Given the description of an element on the screen output the (x, y) to click on. 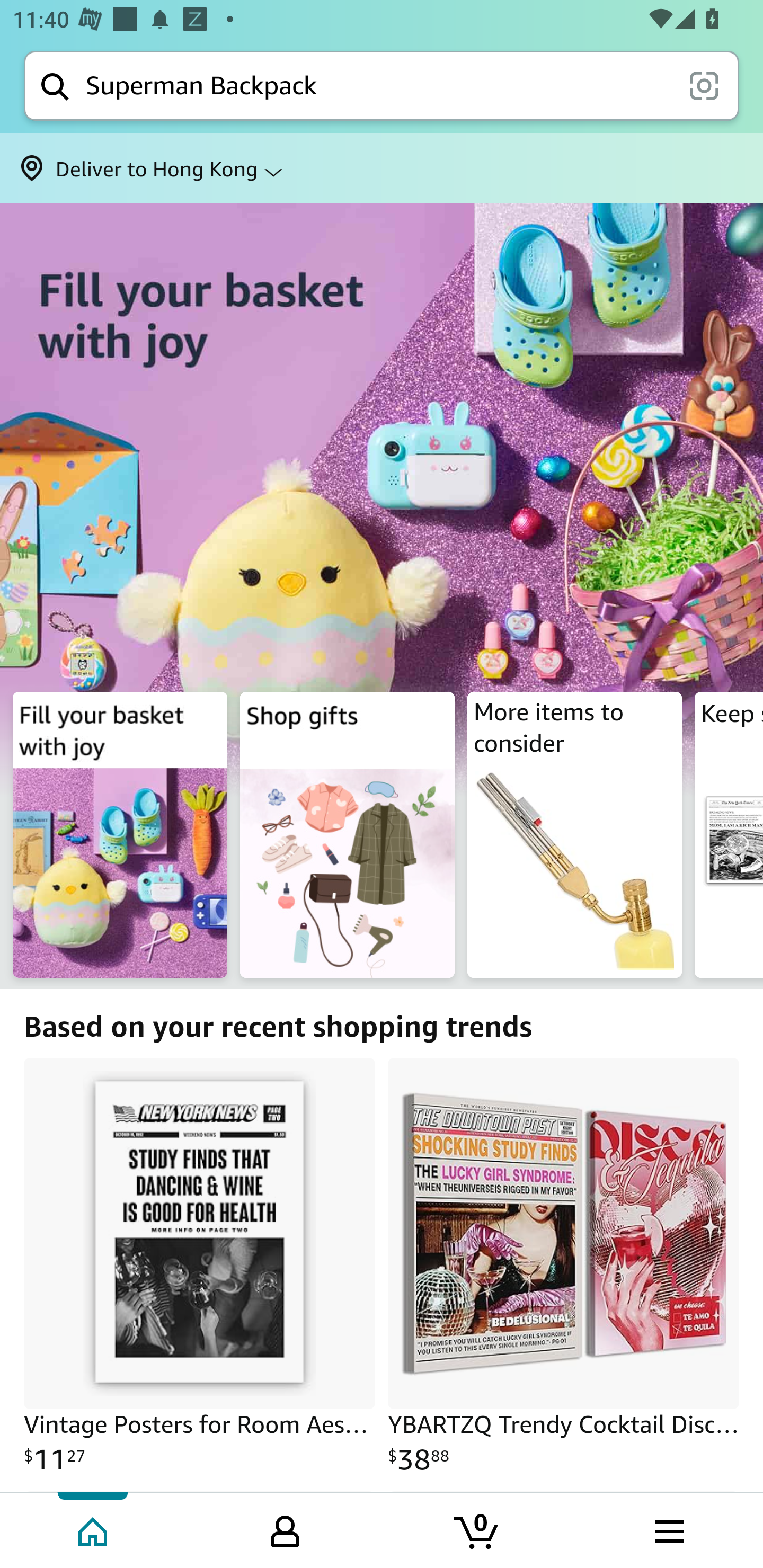
Search Search Superman Backpack scan it (381, 85)
scan it (704, 85)
Deliver to Hong Kong ⌵ (381, 168)
Fill your basket with joy (381, 536)
Home Tab 1 of 4 (94, 1529)
Your Amazon.com Tab 2 of 4 (285, 1529)
Cart 0 item Tab 3 of 4 0 (477, 1529)
Browse menu Tab 4 of 4 (668, 1529)
